Given the description of an element on the screen output the (x, y) to click on. 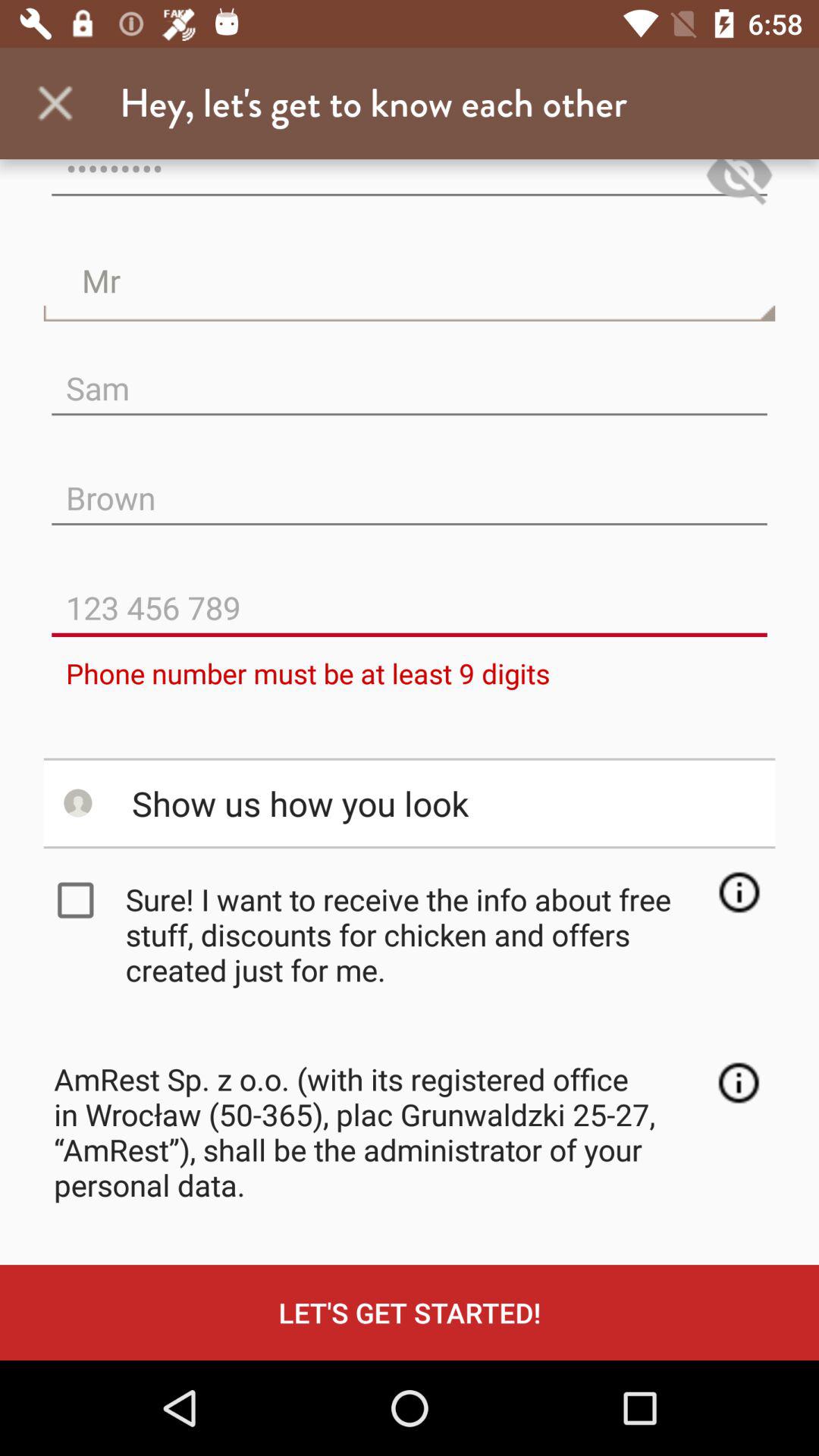
jump to the 123 456 789 item (409, 595)
